Given the description of an element on the screen output the (x, y) to click on. 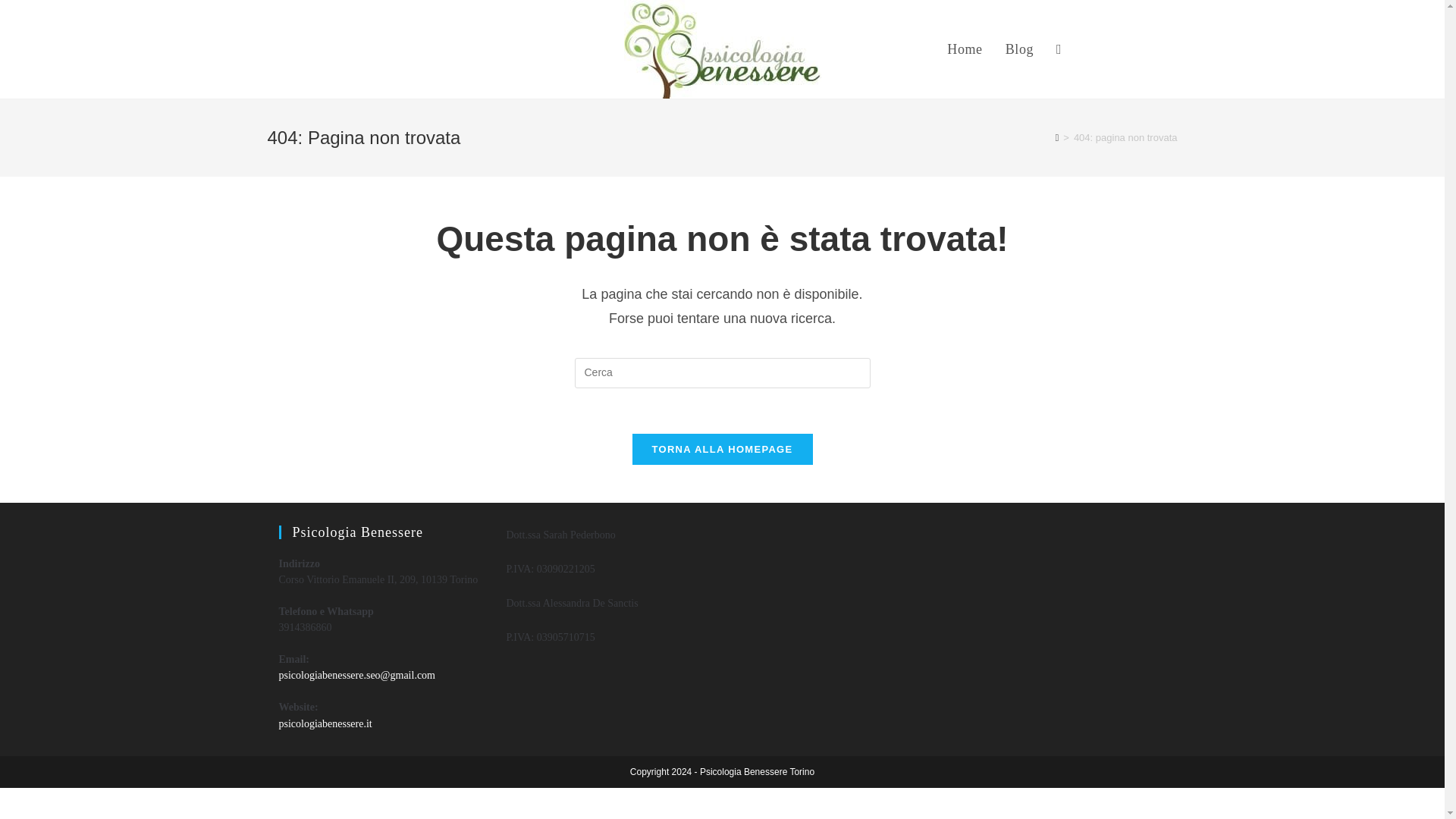
TORNA ALLA HOMEPAGE (721, 449)
Home (964, 48)
Blog (1019, 48)
psicologiabenessere.it (325, 723)
